Given the description of an element on the screen output the (x, y) to click on. 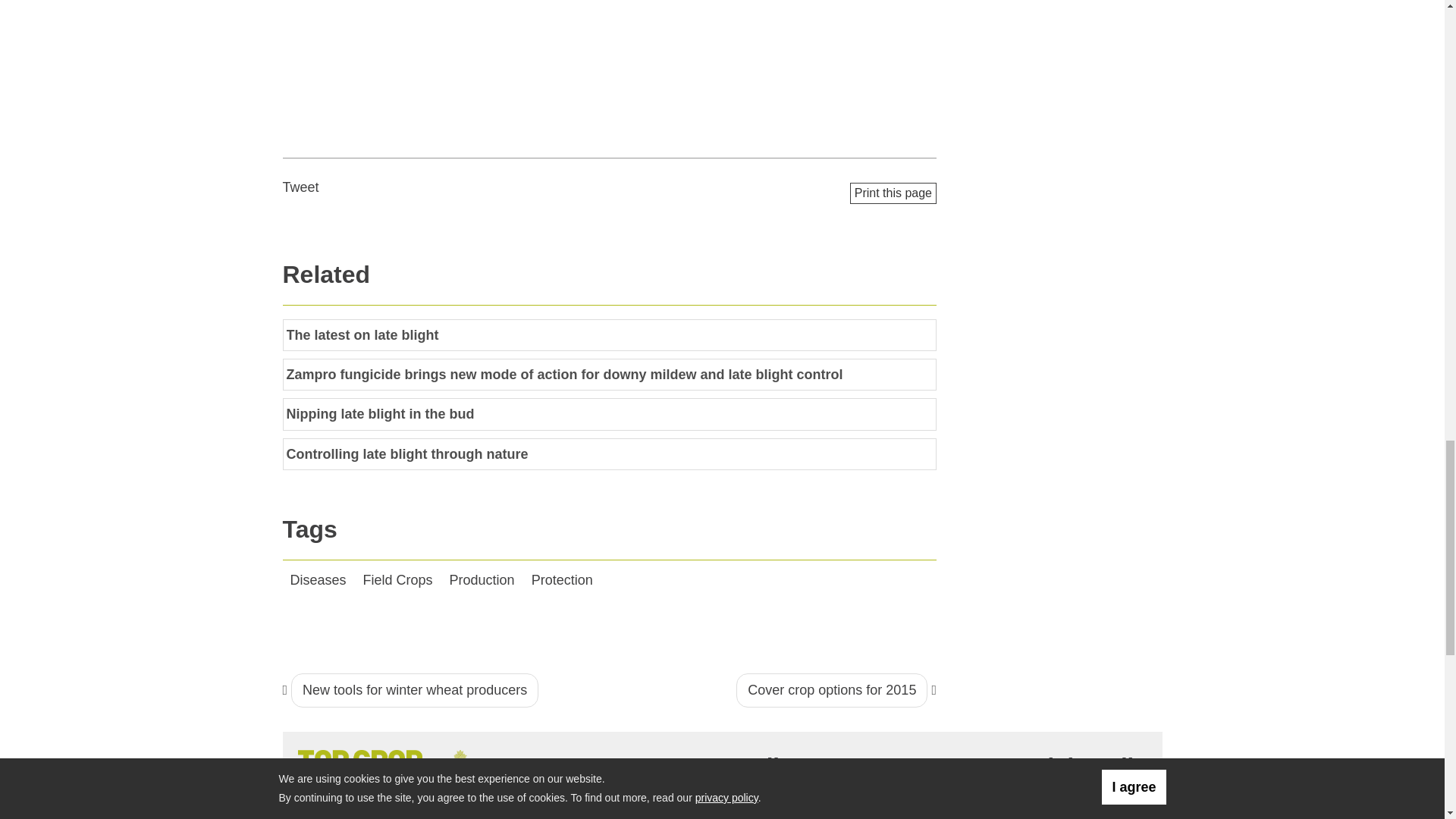
Top Crop Manager (395, 765)
